Given the description of an element on the screen output the (x, y) to click on. 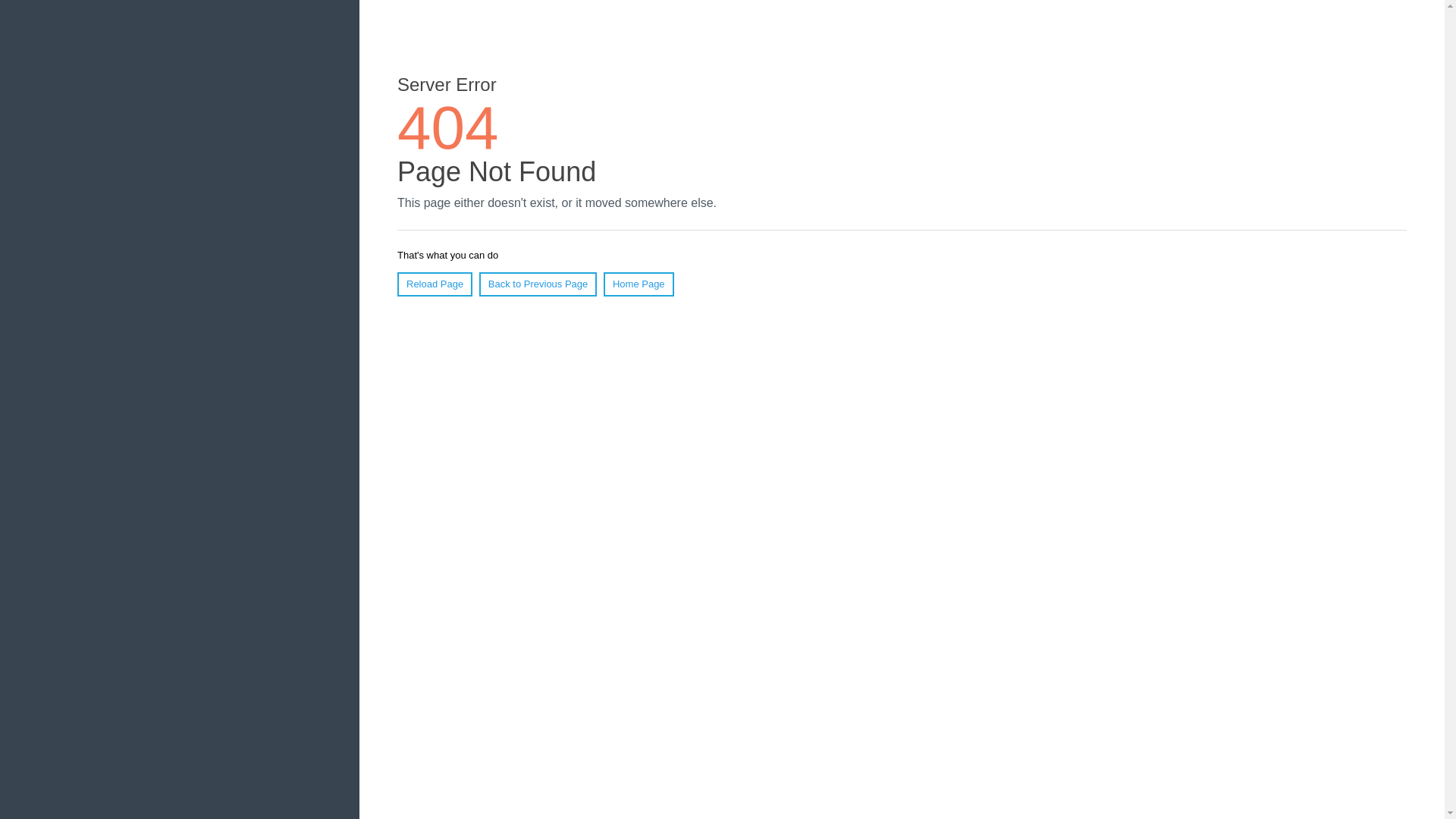
Back to Previous Page Element type: text (538, 284)
Home Page Element type: text (638, 284)
Reload Page Element type: text (434, 284)
